Given the description of an element on the screen output the (x, y) to click on. 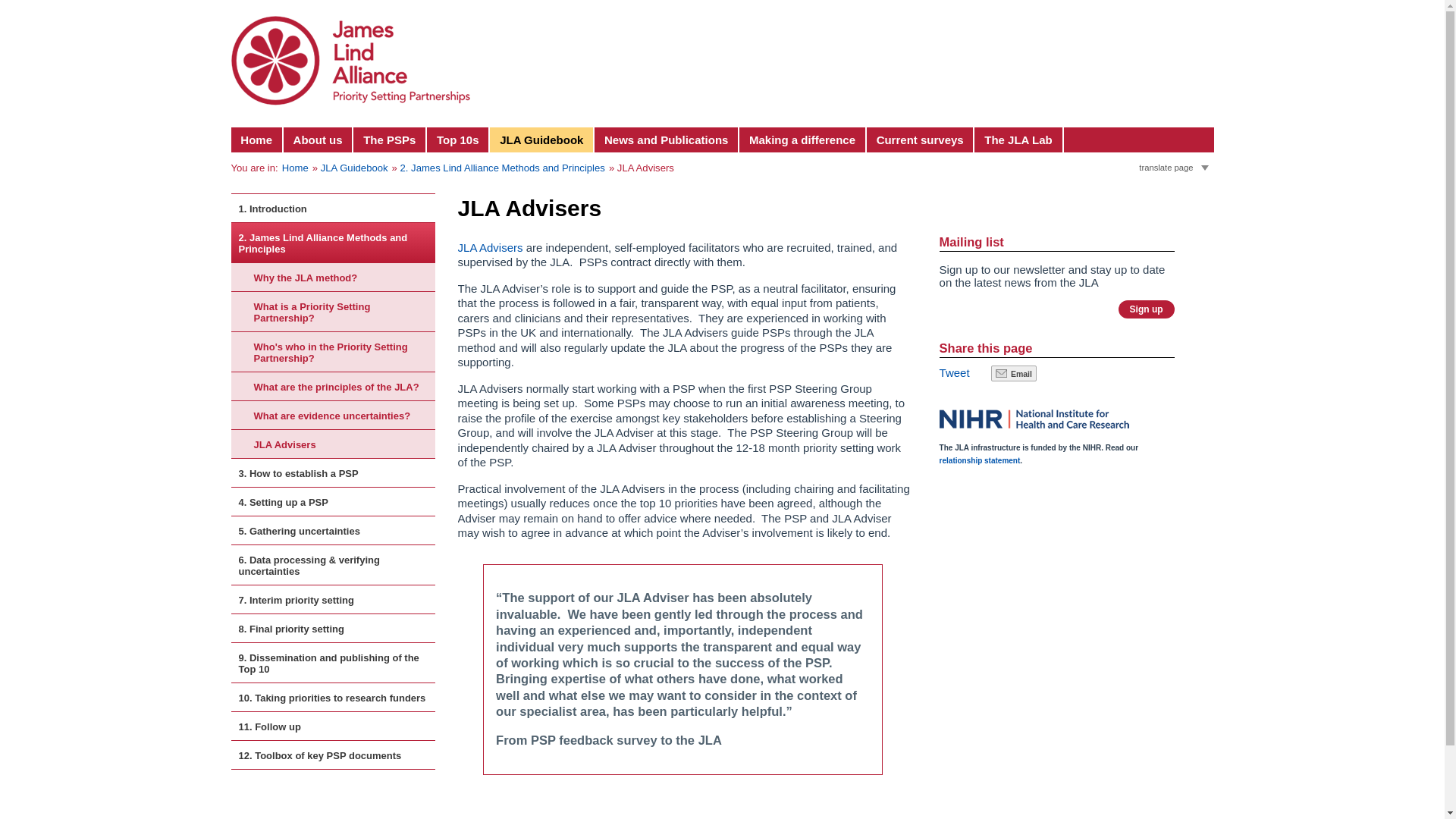
The JLA Lab (1018, 139)
JLA Guidebook (541, 139)
The JLA Lab - AccessKey:J (1018, 139)
Home (256, 139)
The PSPs - AccessKey:C (389, 139)
Making a difference (802, 139)
Making a difference - AccessKey:H (802, 139)
News and Publications (666, 139)
The James Lind Alliance - AccessKey:A (256, 139)
About us - AccessKey:B (318, 139)
